Given the description of an element on the screen output the (x, y) to click on. 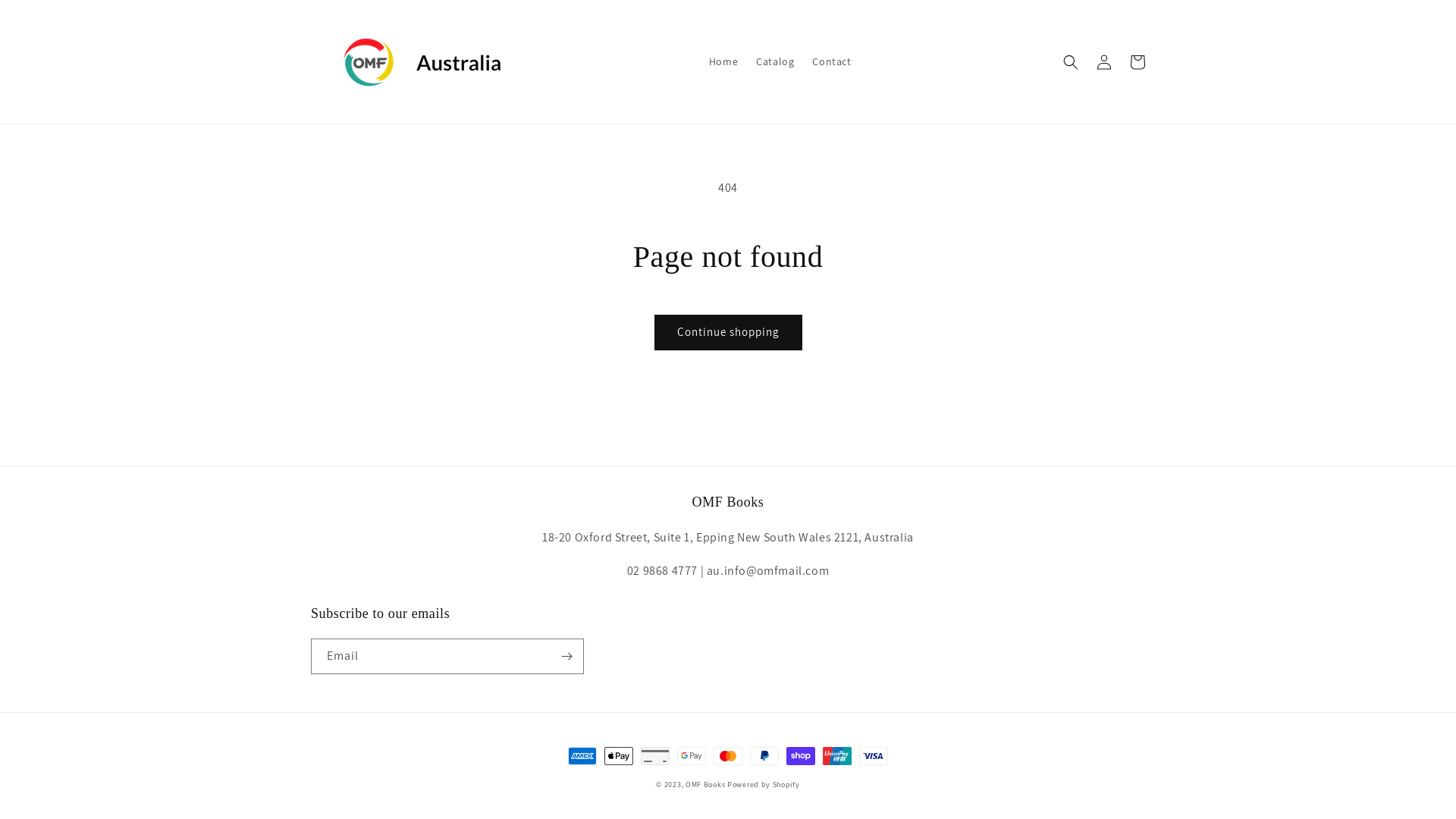
Cart Element type: text (1137, 61)
Home Element type: text (722, 61)
Continue shopping Element type: text (727, 332)
Powered by Shopify Element type: text (763, 784)
Catalog Element type: text (774, 61)
OMF Books Element type: text (704, 784)
Contact Element type: text (831, 61)
Log in Element type: text (1103, 61)
